Given the description of an element on the screen output the (x, y) to click on. 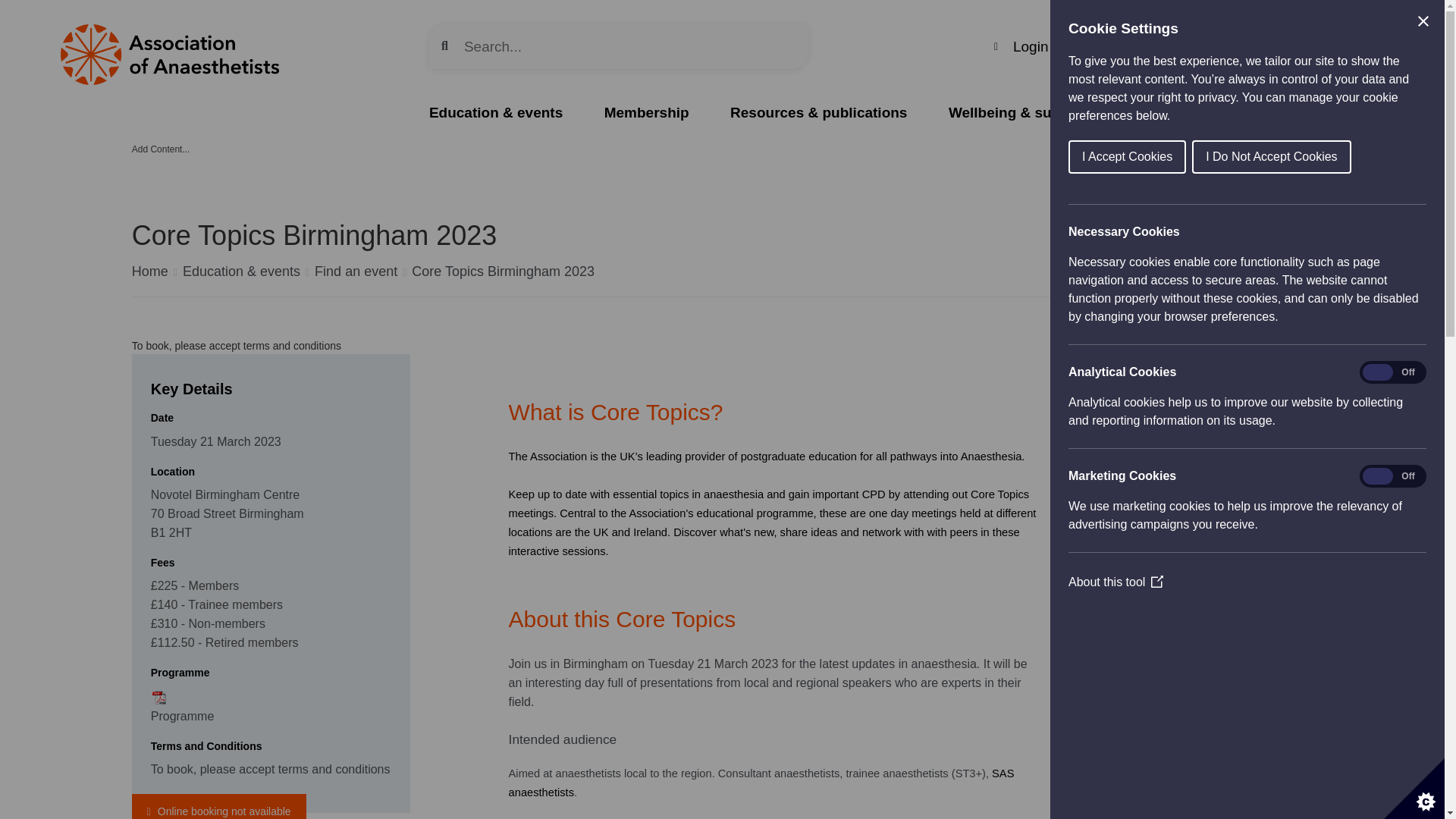
Become a member (1278, 46)
Register (1106, 46)
Register (1106, 46)
Login (1020, 46)
Login (1020, 46)
